Given the description of an element on the screen output the (x, y) to click on. 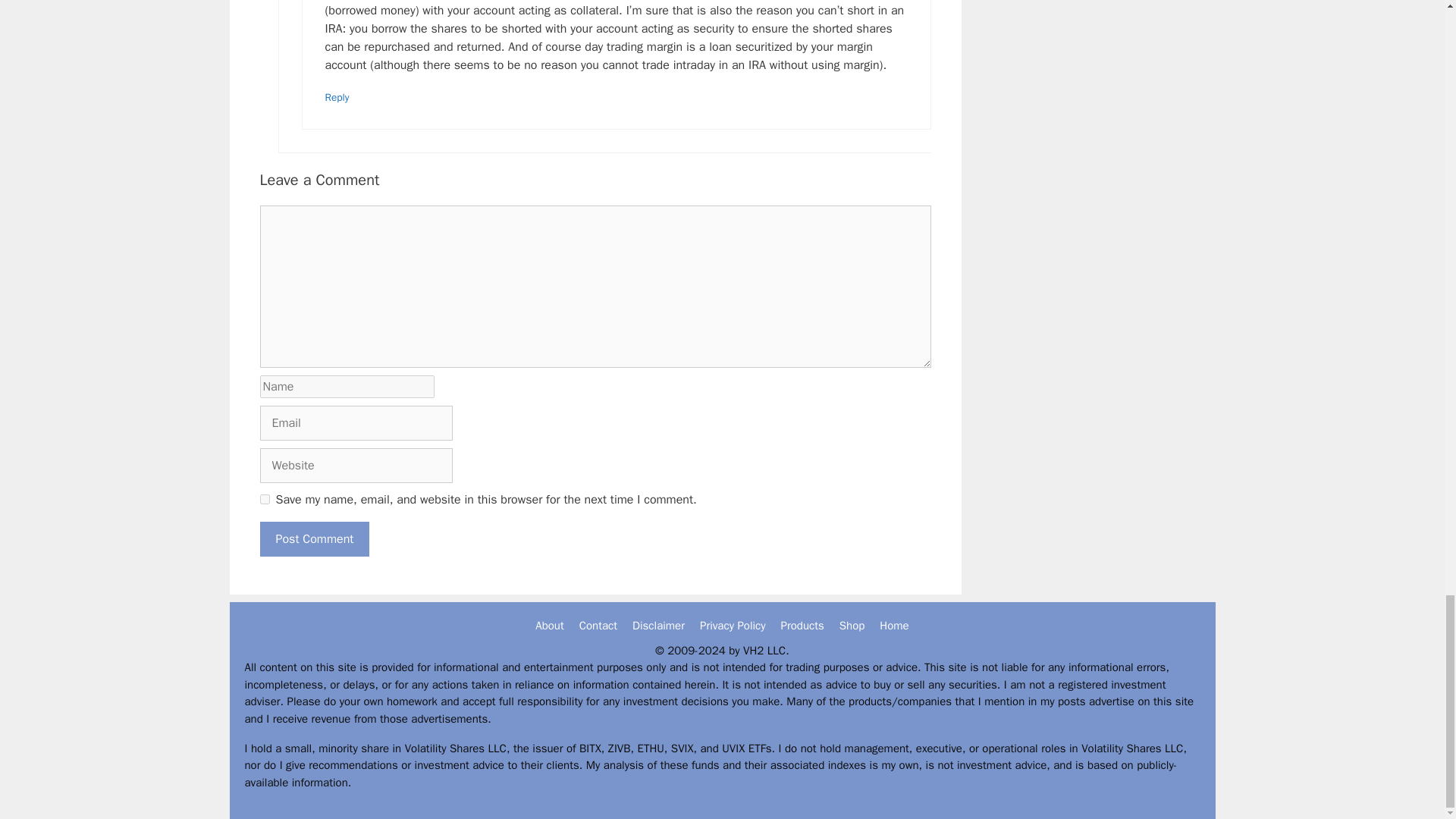
Post Comment (314, 538)
yes (264, 499)
